Given the description of an element on the screen output the (x, y) to click on. 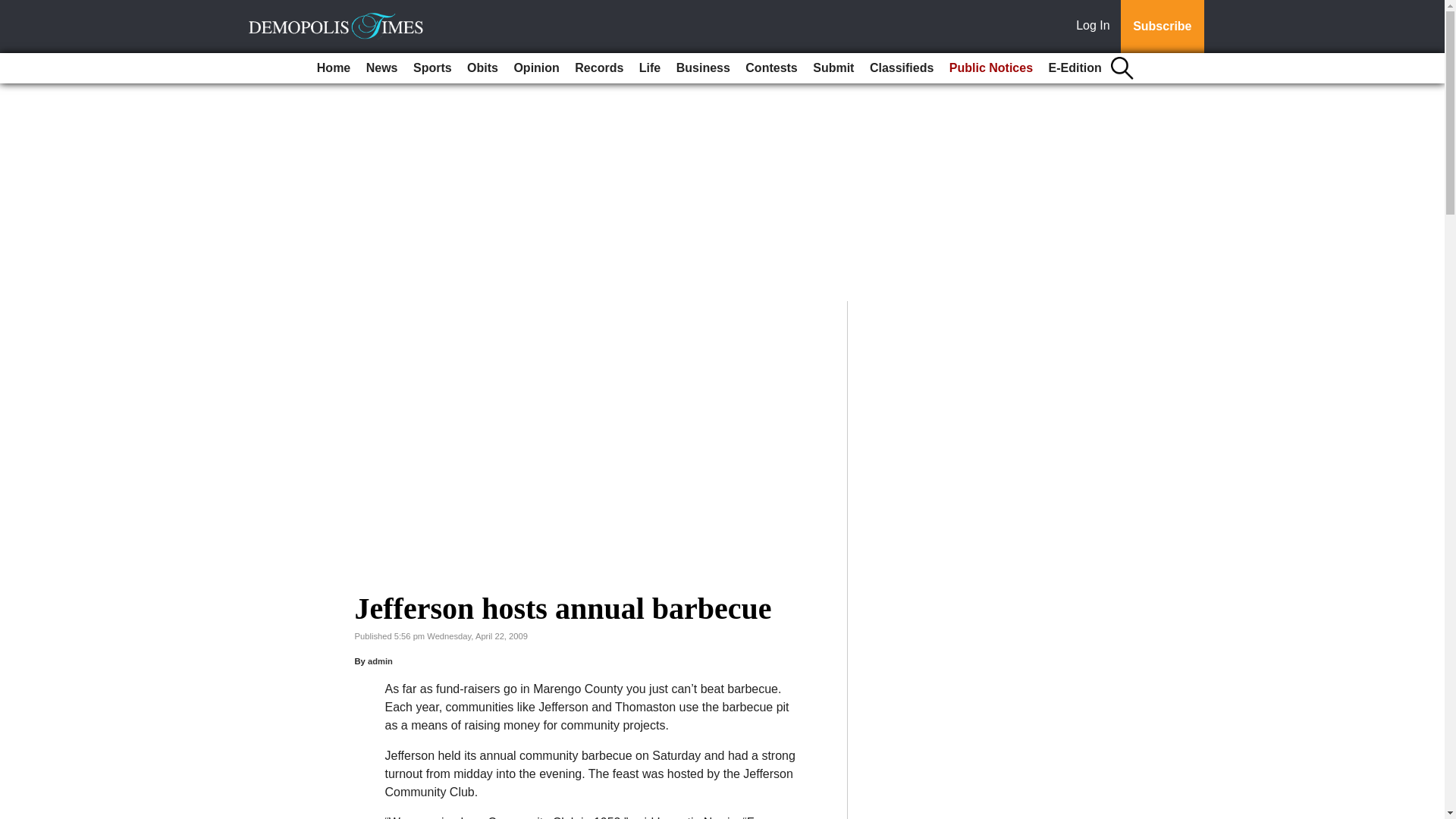
admin (380, 660)
Classifieds (901, 68)
Log In (1095, 26)
Subscribe (1162, 26)
Records (598, 68)
Go (13, 9)
Opinion (535, 68)
Submit (833, 68)
News (381, 68)
Public Notices (991, 68)
E-Edition (1075, 68)
Sports (432, 68)
Contests (771, 68)
Home (333, 68)
Obits (482, 68)
